Given the description of an element on the screen output the (x, y) to click on. 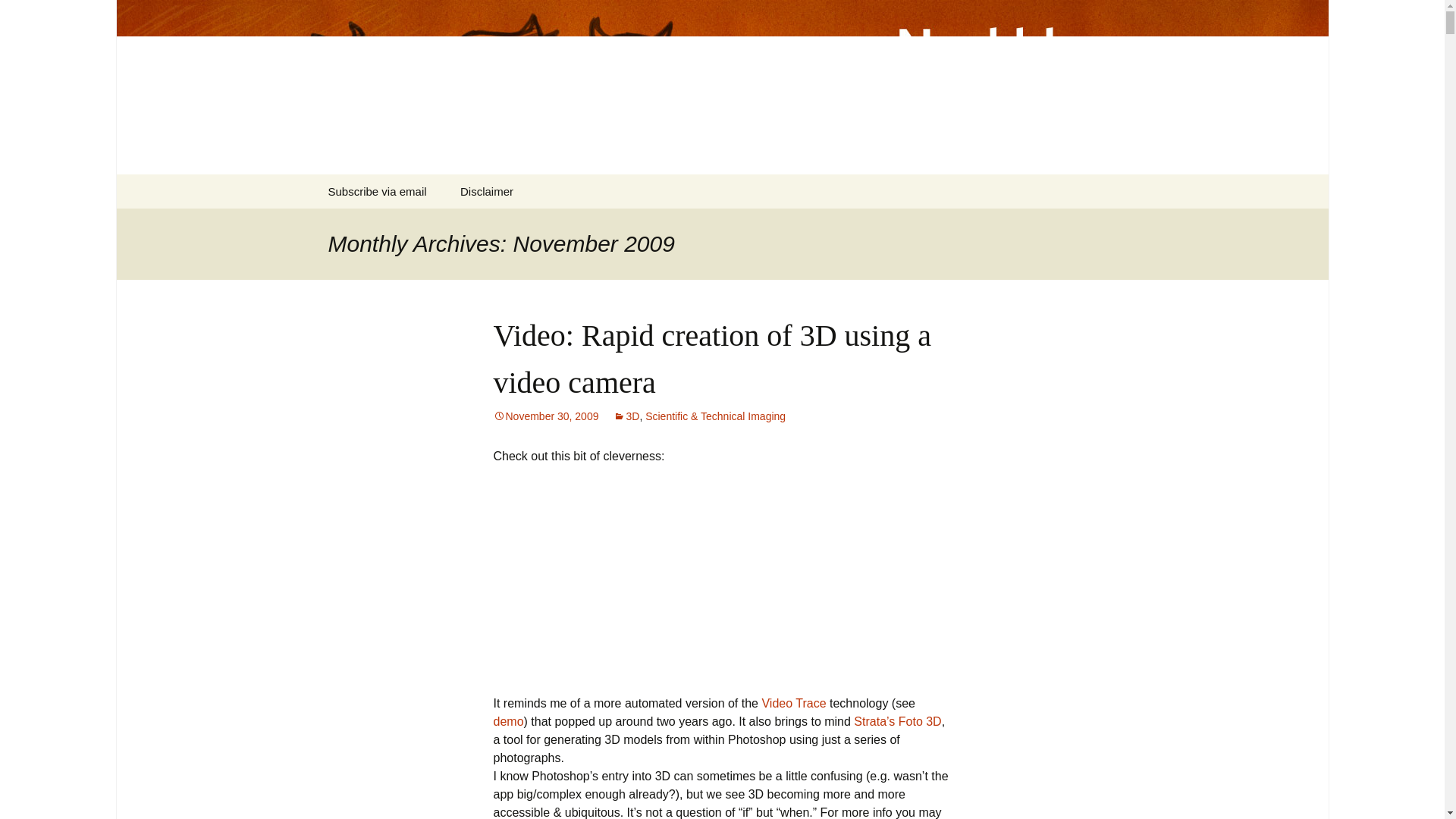
Search (18, 15)
Video: Rapid creation of 3D using a video camera (711, 358)
Disclaimer (486, 191)
3D (625, 416)
Subscribe via email (377, 191)
demo (507, 721)
Video Trace (793, 703)
November 30, 2009 (545, 416)
